Given the description of an element on the screen output the (x, y) to click on. 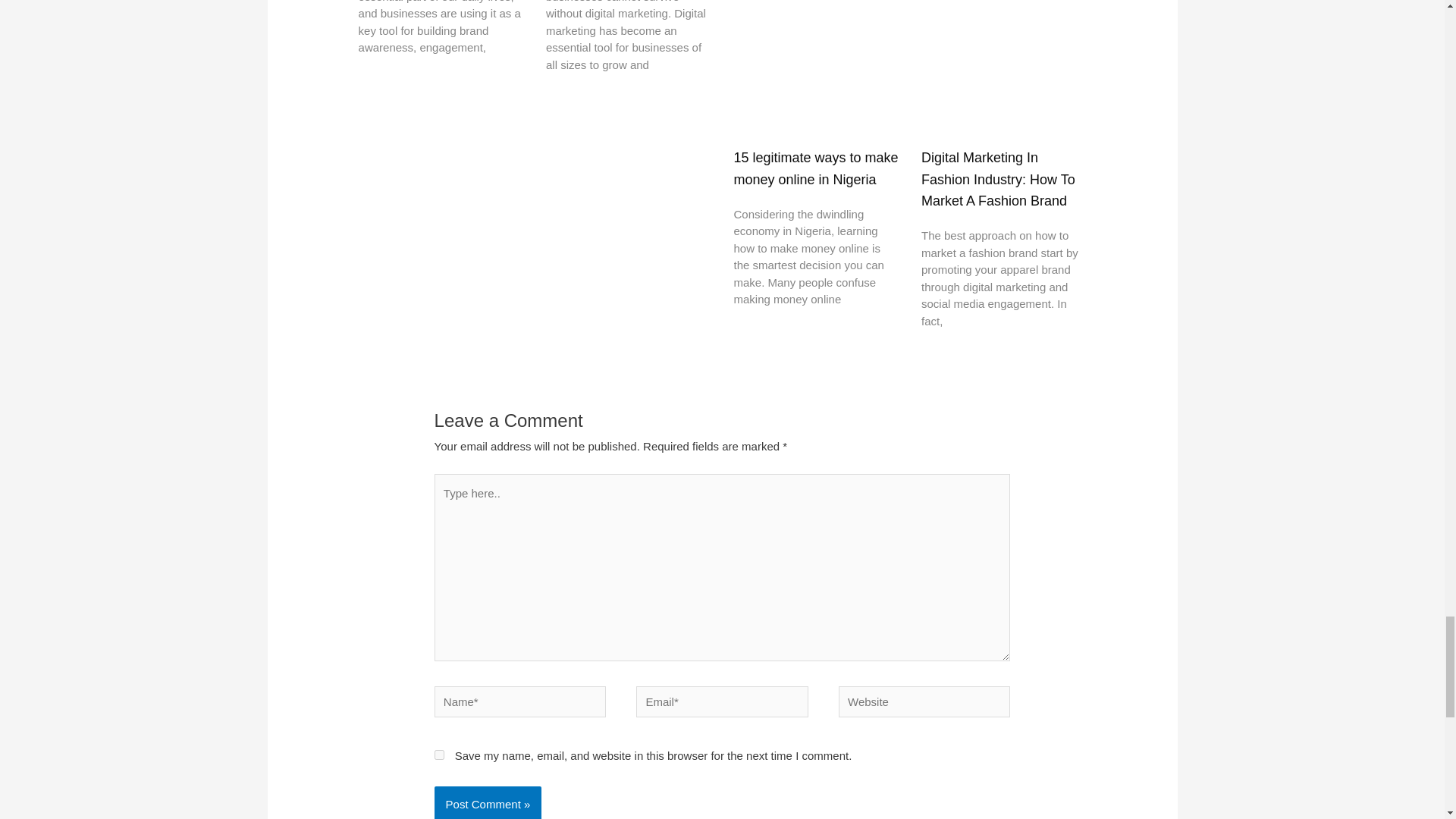
yes (438, 755)
